Given the description of an element on the screen output the (x, y) to click on. 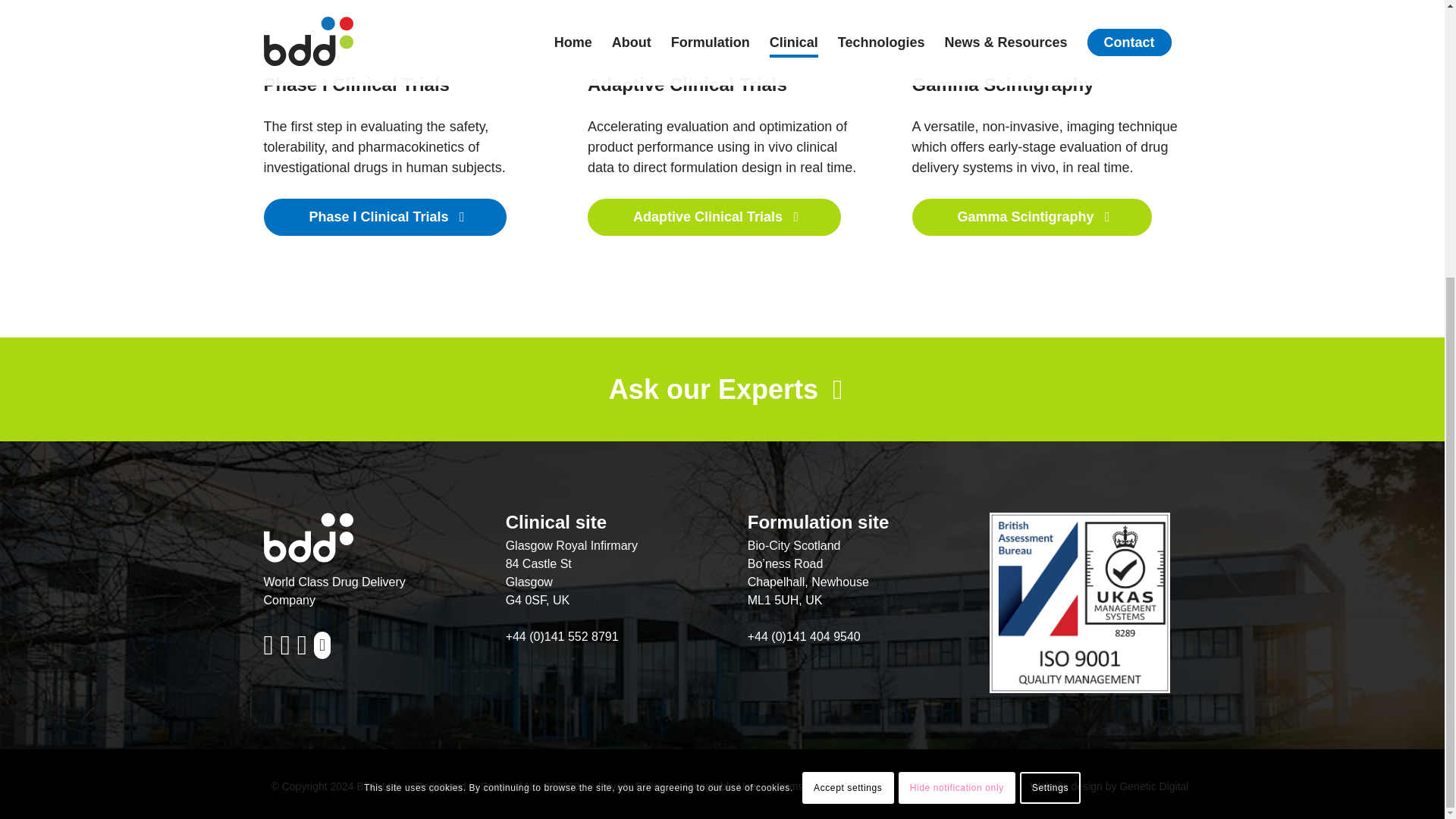
Phase I Clinical Trials (384, 217)
Gamma Scintigraphy (1032, 217)
Terms of Use (796, 786)
Adaptive Clinical Trials (714, 217)
Ask our Experts (721, 389)
Website design by Genetic Digital (1101, 786)
Acceptable Use (710, 786)
Privacy Policy (622, 786)
bdd-logo-new-white (308, 537)
